Given the description of an element on the screen output the (x, y) to click on. 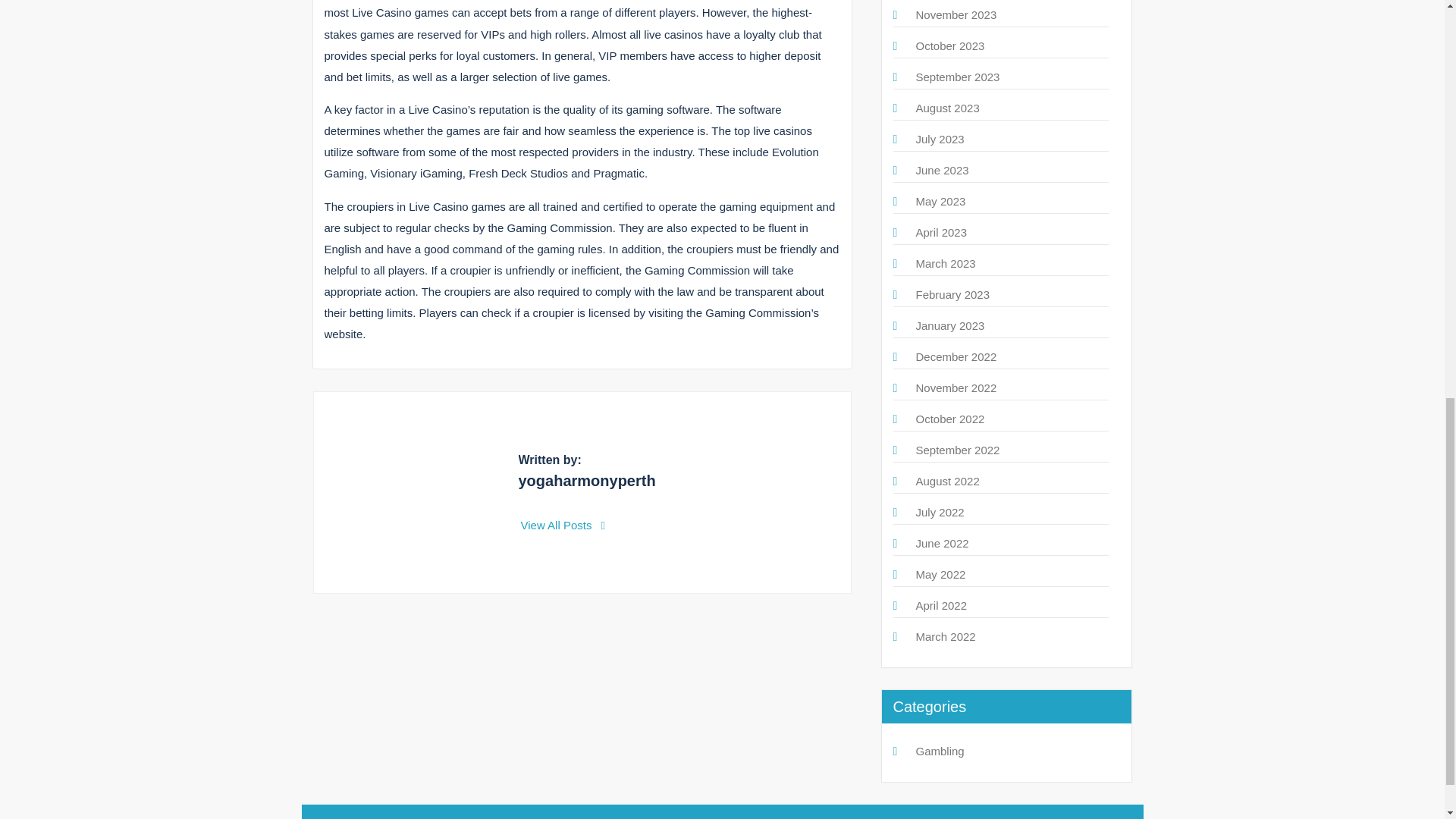
January 2023 (950, 325)
September 2023 (957, 76)
March 2022 (945, 635)
October 2022 (950, 418)
February 2023 (952, 294)
December 2022 (956, 356)
March 2023 (945, 263)
June 2022 (942, 543)
View All Posts (562, 524)
October 2023 (950, 45)
July 2022 (939, 512)
September 2022 (957, 449)
August 2023 (947, 107)
June 2023 (942, 169)
May 2022 (940, 574)
